Given the description of an element on the screen output the (x, y) to click on. 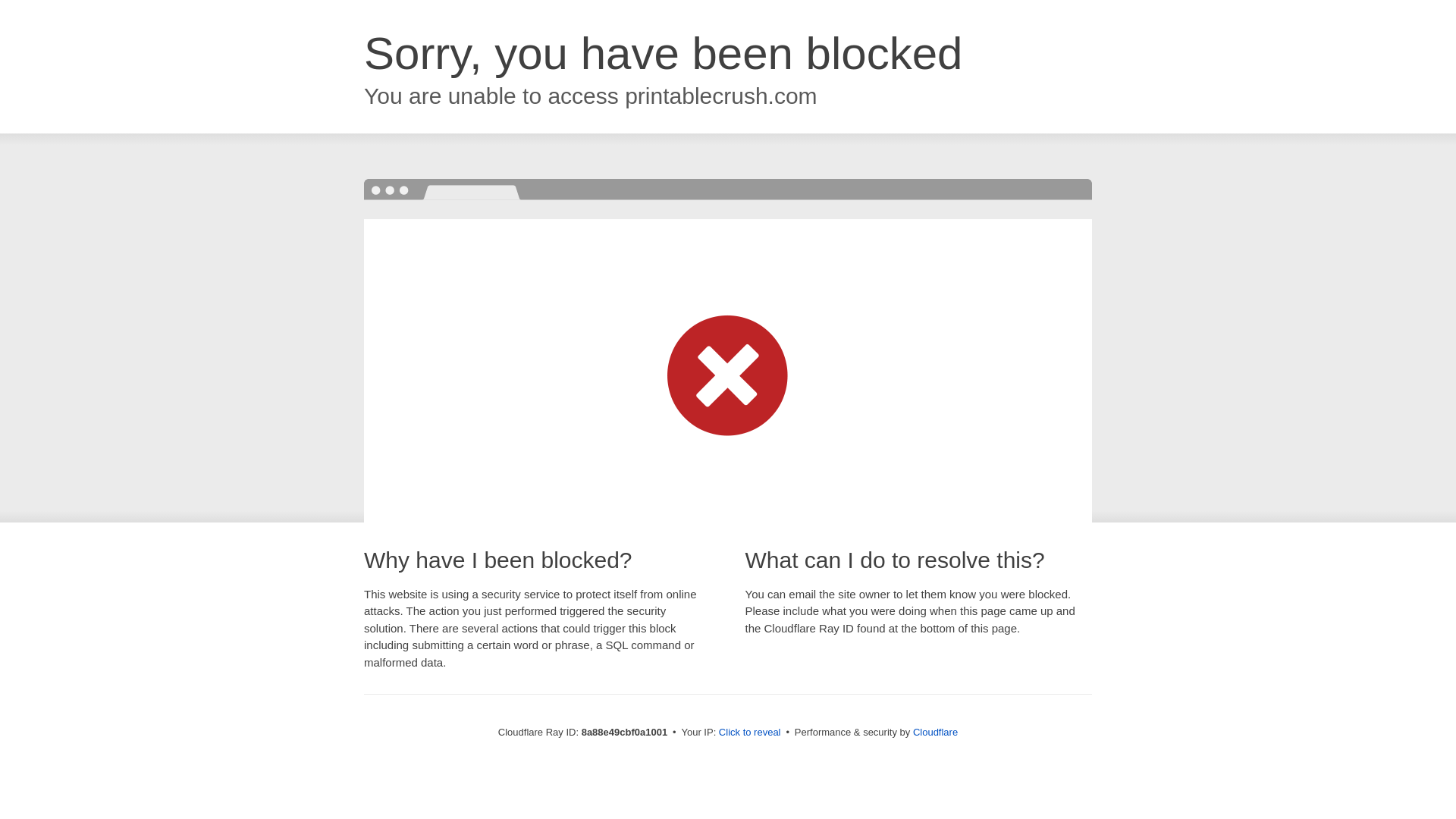
Cloudflare (935, 731)
Click to reveal (749, 732)
